Given the description of an element on the screen output the (x, y) to click on. 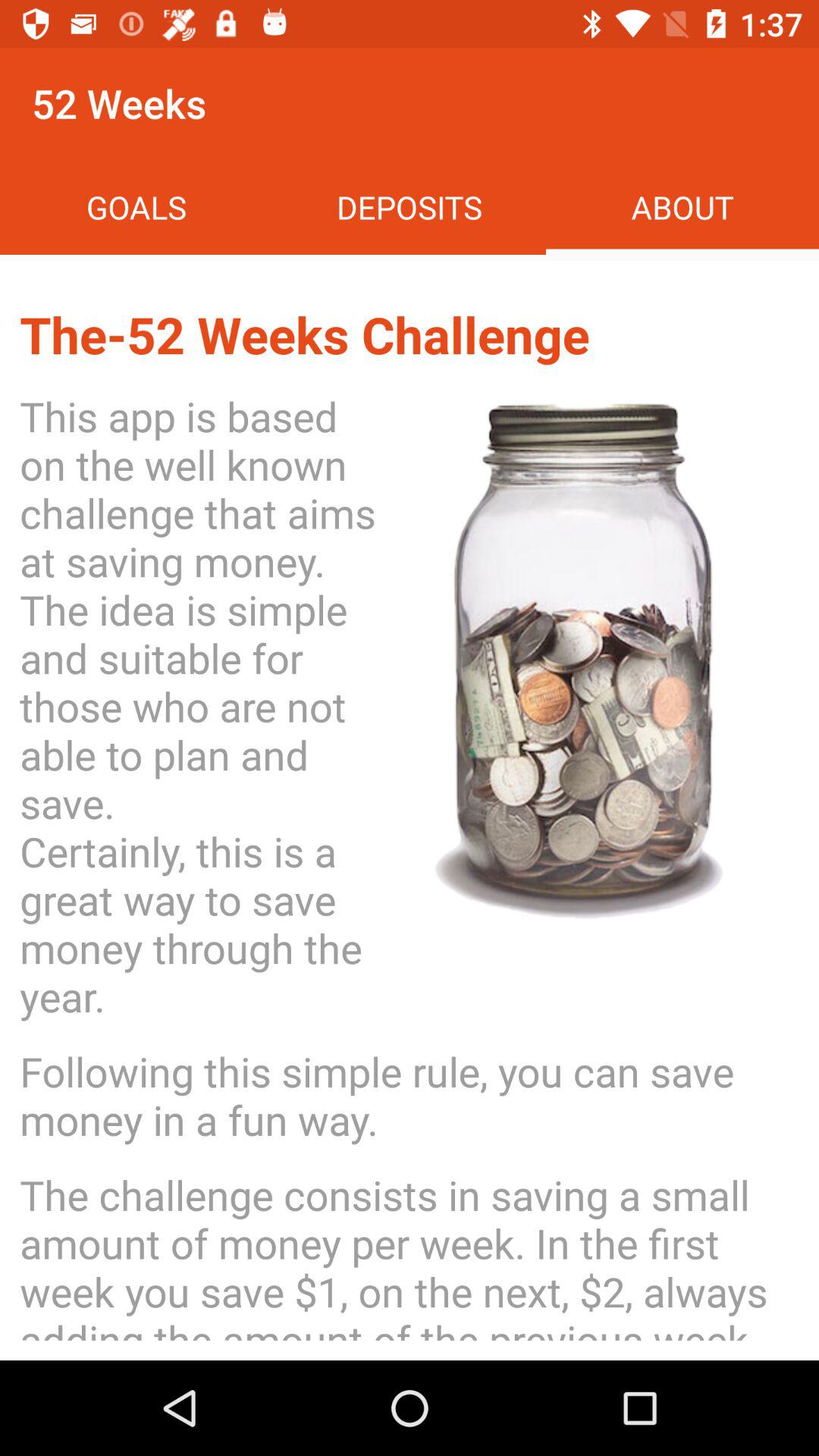
choose the about icon (682, 206)
